Given the description of an element on the screen output the (x, y) to click on. 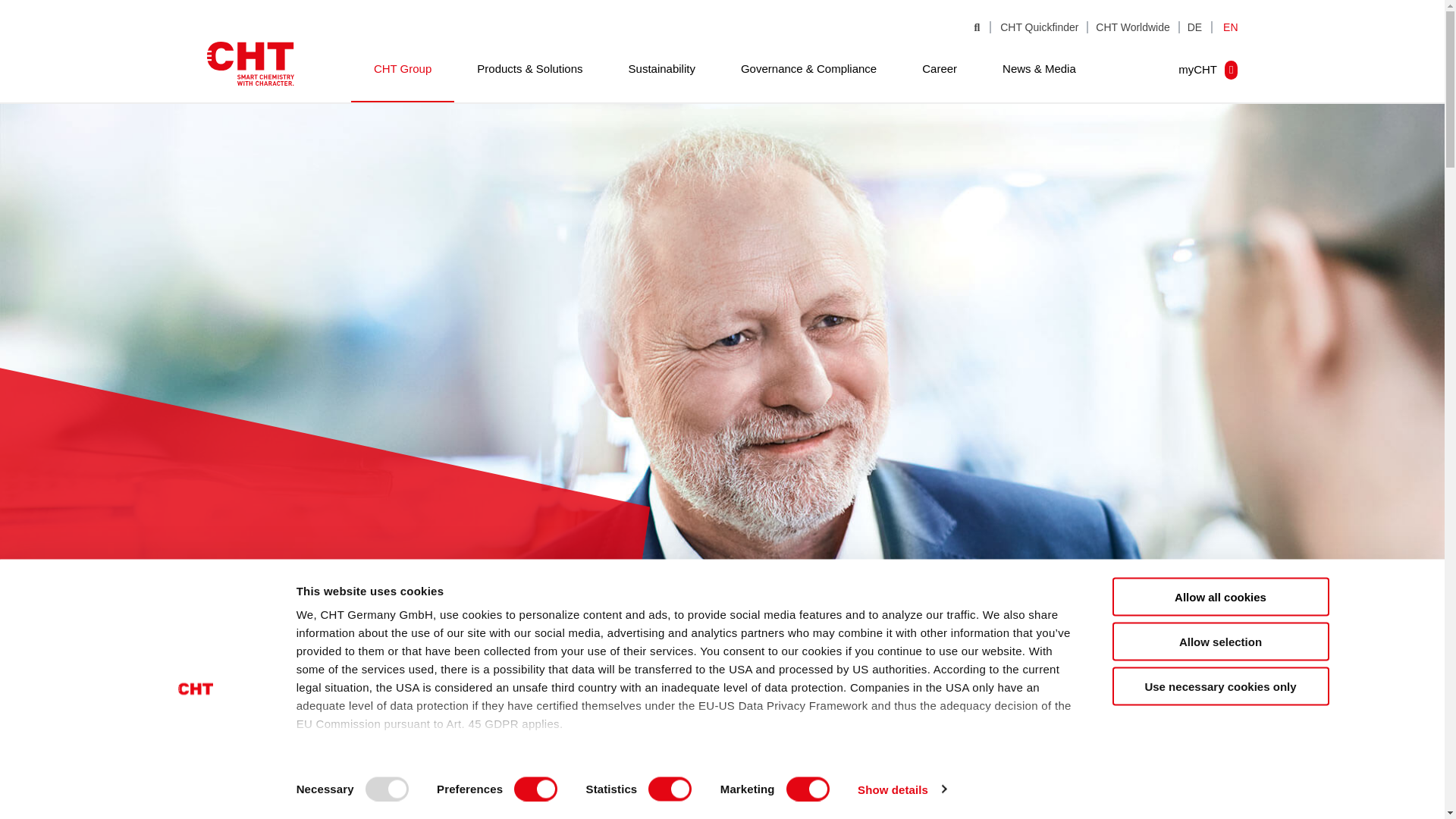
CHT (250, 63)
CHT Quickfinder (1039, 27)
Allow all cookies (1219, 597)
English (1226, 27)
EN (1226, 27)
Allow selection (1219, 640)
Use necessary cookies only (1219, 685)
Show details (900, 789)
DE (1195, 27)
CHT Group (402, 70)
